Given the description of an element on the screen output the (x, y) to click on. 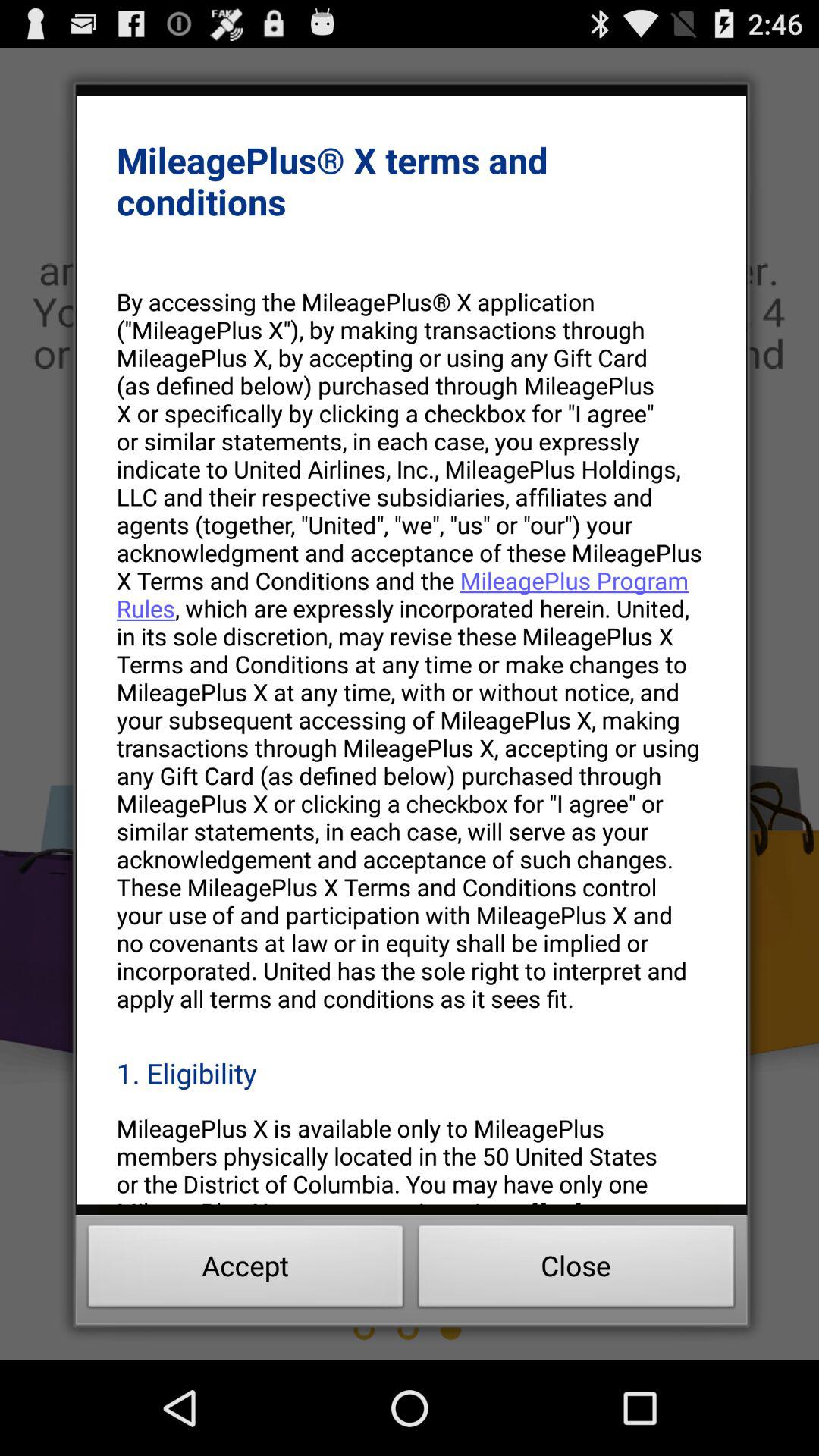
choose item at the center (411, 649)
